Given the description of an element on the screen output the (x, y) to click on. 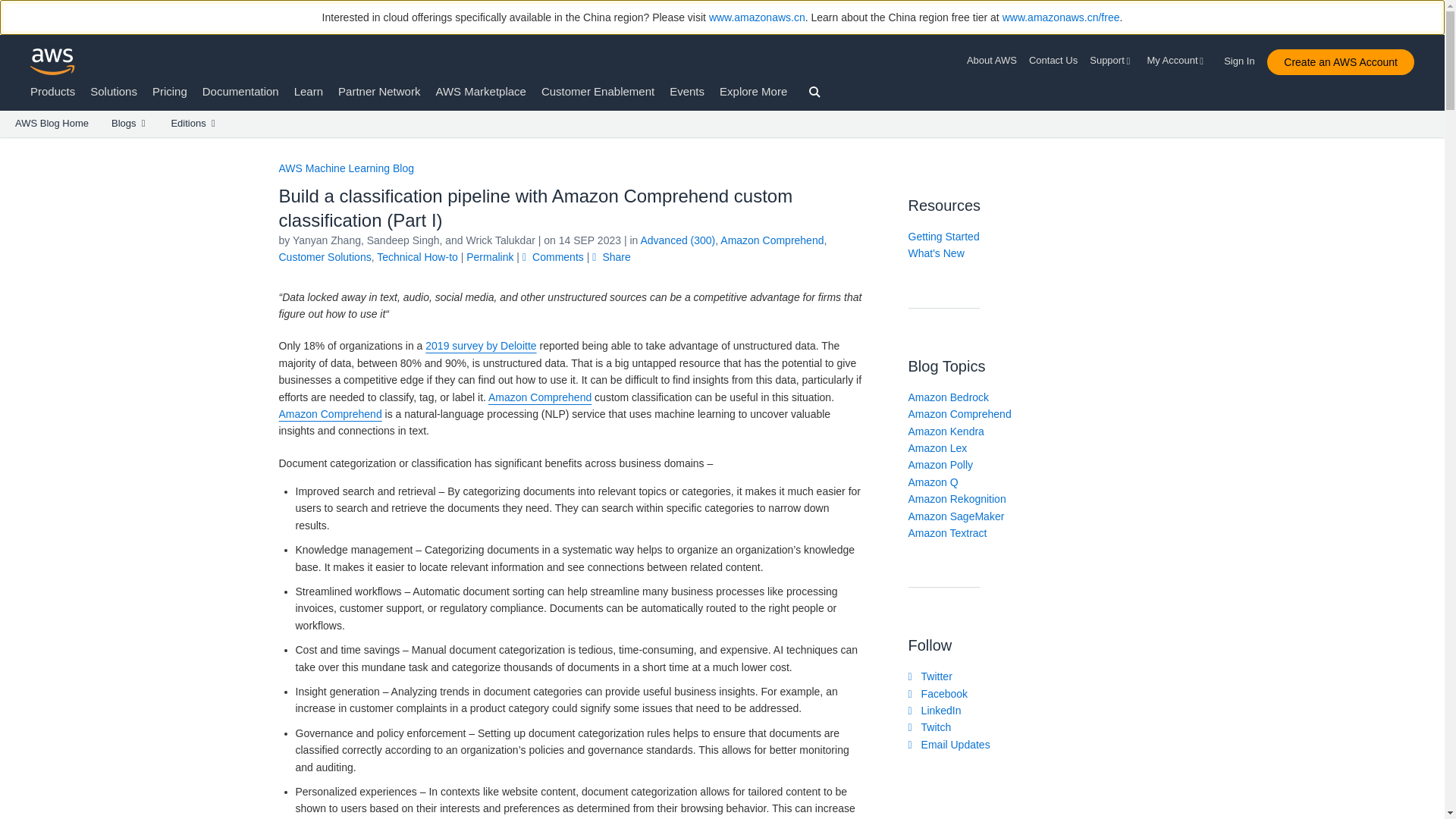
Products (52, 91)
Explore More (753, 91)
AWS Marketplace (480, 91)
View all posts in Customer Solutions (325, 256)
Create an AWS Account (1339, 62)
Support  (1111, 60)
Events (686, 91)
Partner Network (378, 91)
Learn (308, 91)
Click here to return to Amazon Web Services homepage (52, 61)
Documentation (240, 91)
My Account  (1177, 60)
Contact Us (1053, 60)
www.amazonaws.cn (757, 17)
Pricing (169, 91)
